Given the description of an element on the screen output the (x, y) to click on. 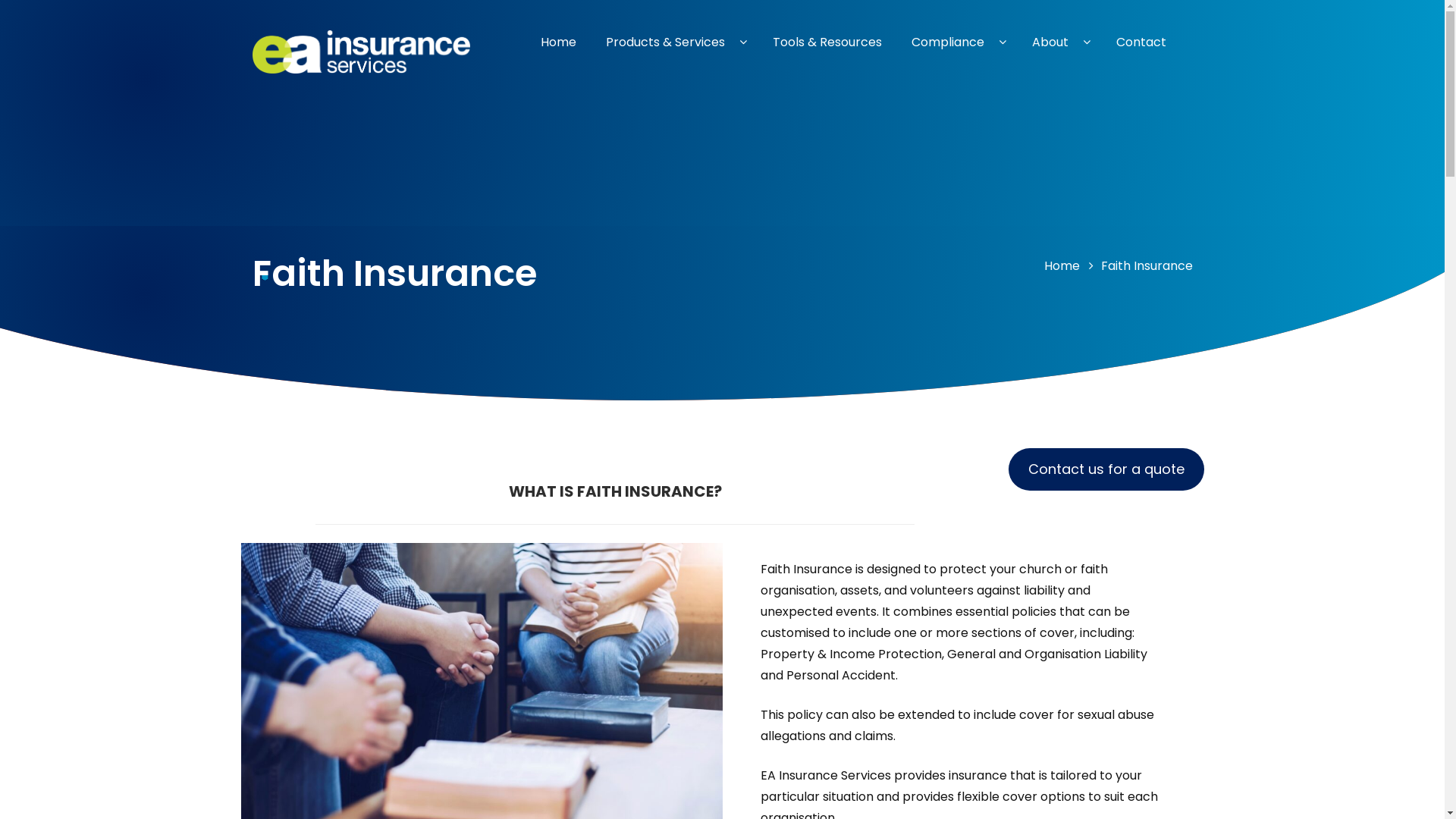
Products & Services Element type: text (673, 41)
Contact Element type: text (1141, 41)
Contact us for a quote Element type: text (1106, 468)
About Element type: text (1058, 41)
Compliance Element type: text (956, 41)
Home Element type: text (1061, 264)
Home Element type: text (557, 41)
Tools & Resources Element type: text (826, 41)
